Given the description of an element on the screen output the (x, y) to click on. 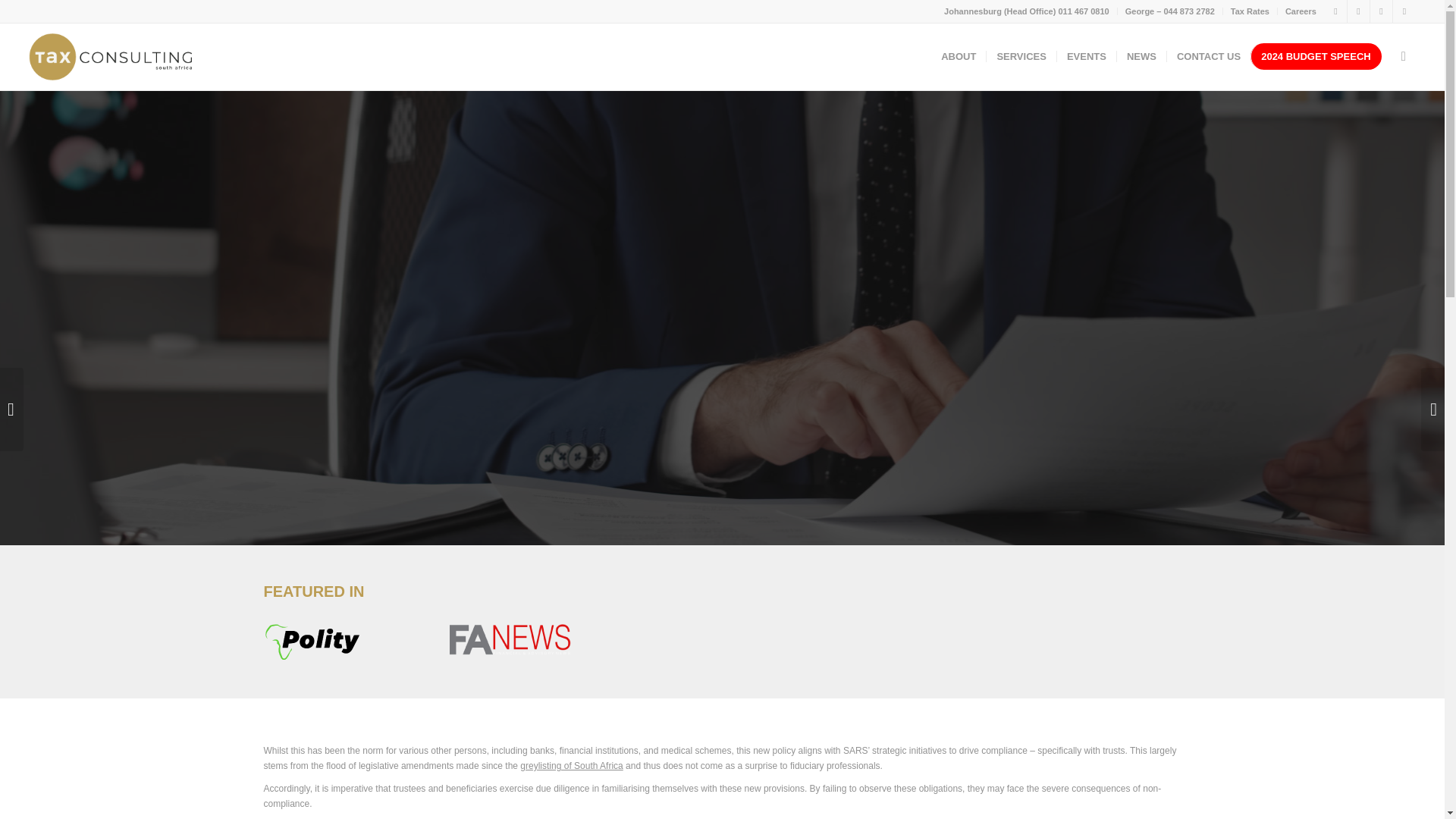
Youtube (1404, 11)
SERVICES (1021, 56)
Careers (1300, 11)
FA News logo (527, 641)
LinkedIn (1359, 11)
Twitter (1380, 11)
Facebook (1335, 11)
Tax Rates (1249, 11)
Tax Consulting (110, 56)
Polity (344, 641)
